Given the description of an element on the screen output the (x, y) to click on. 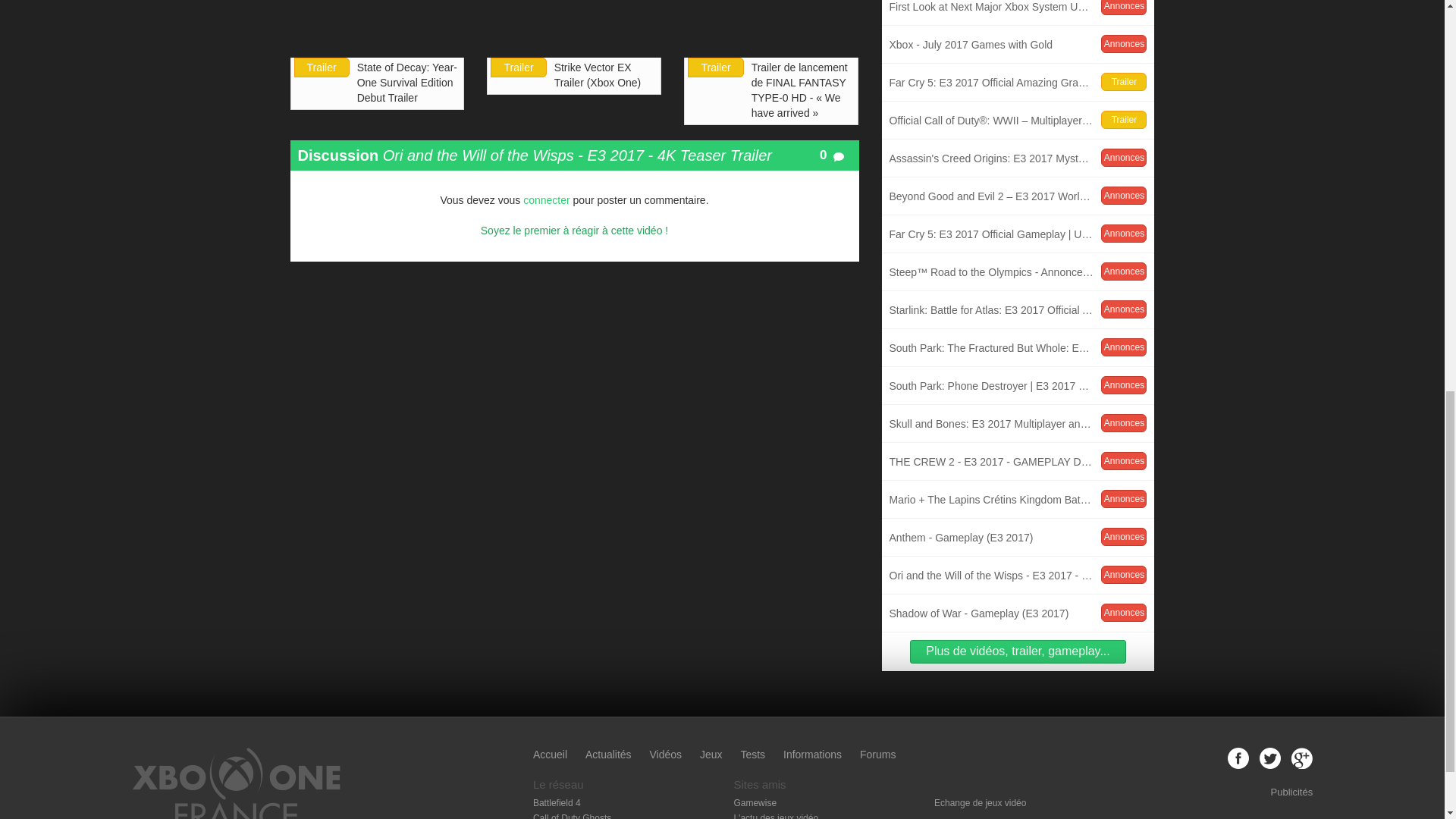
State of Decay: Year-One Survival Edition Debut Trailer (1017, 12)
Trailer (408, 83)
Forums Xbox One (714, 66)
Trailer (877, 754)
Jeux Xbox One (518, 66)
Tests de jeux Xbox One (711, 754)
Trailer (752, 754)
connecter (321, 66)
